Given the description of an element on the screen output the (x, y) to click on. 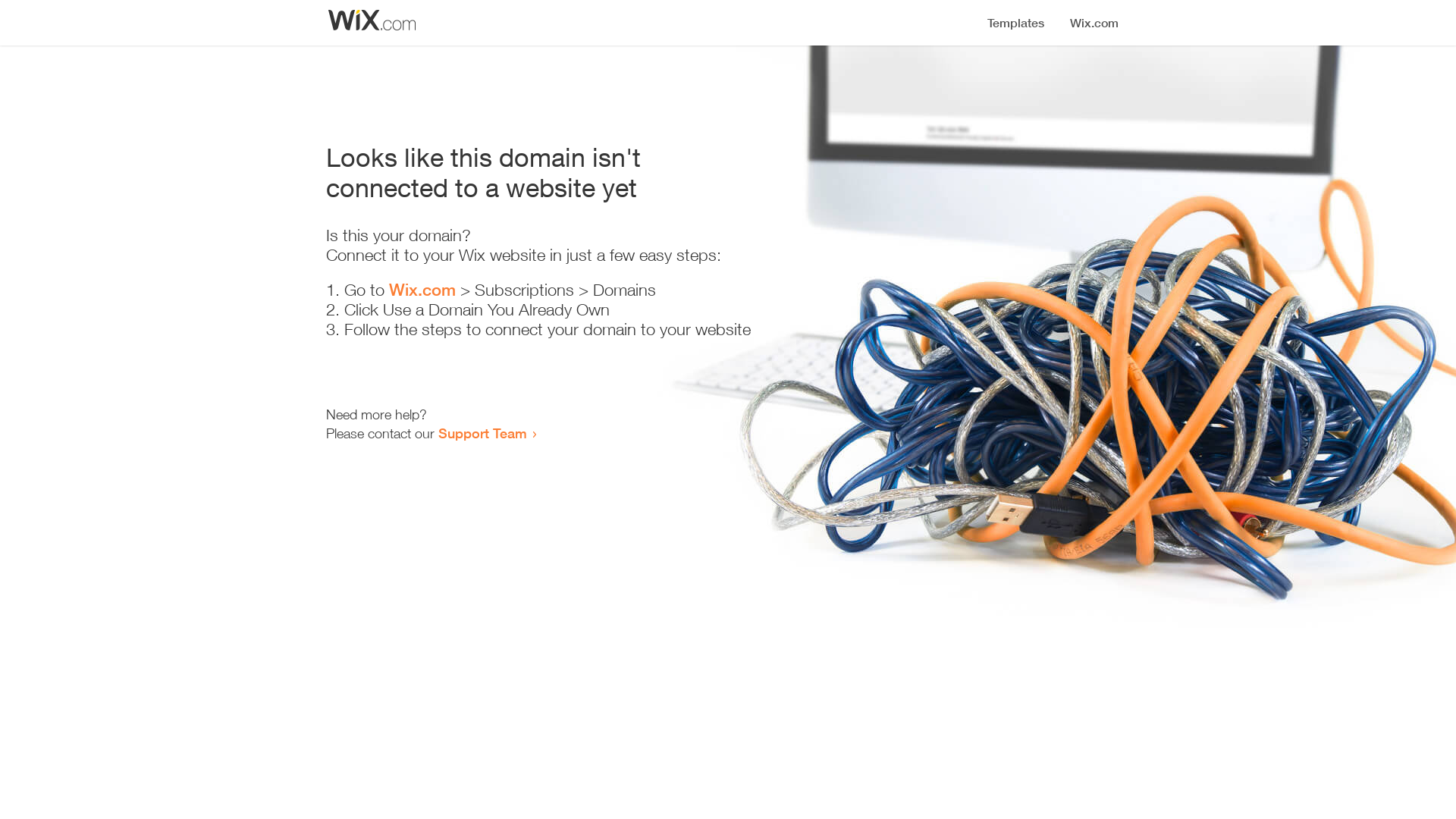
Support Team Element type: text (482, 432)
Wix.com Element type: text (422, 289)
